Given the description of an element on the screen output the (x, y) to click on. 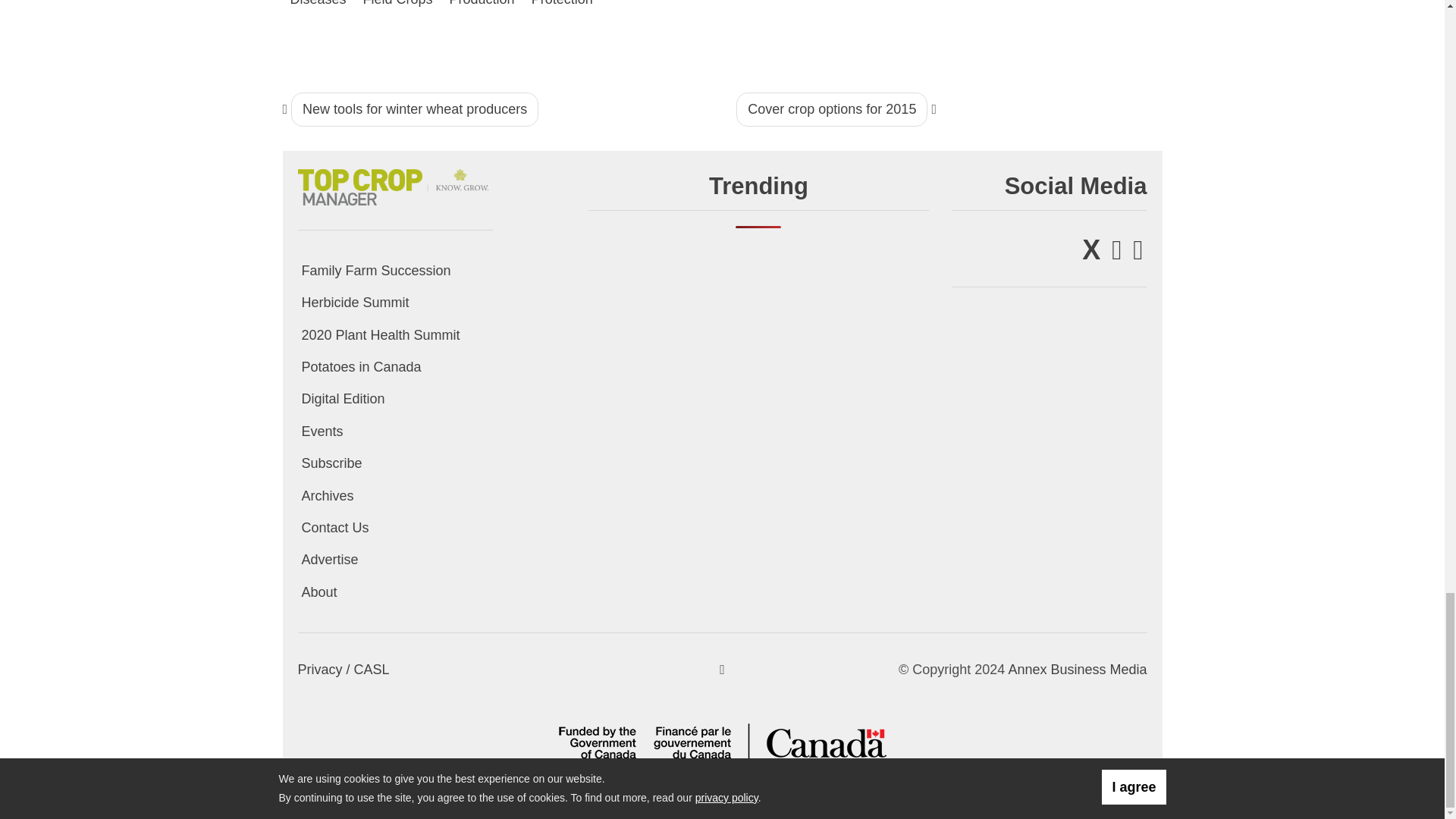
Annex Business Media (1077, 669)
scroll to top (722, 669)
Top Crop Manager (395, 183)
